Given the description of an element on the screen output the (x, y) to click on. 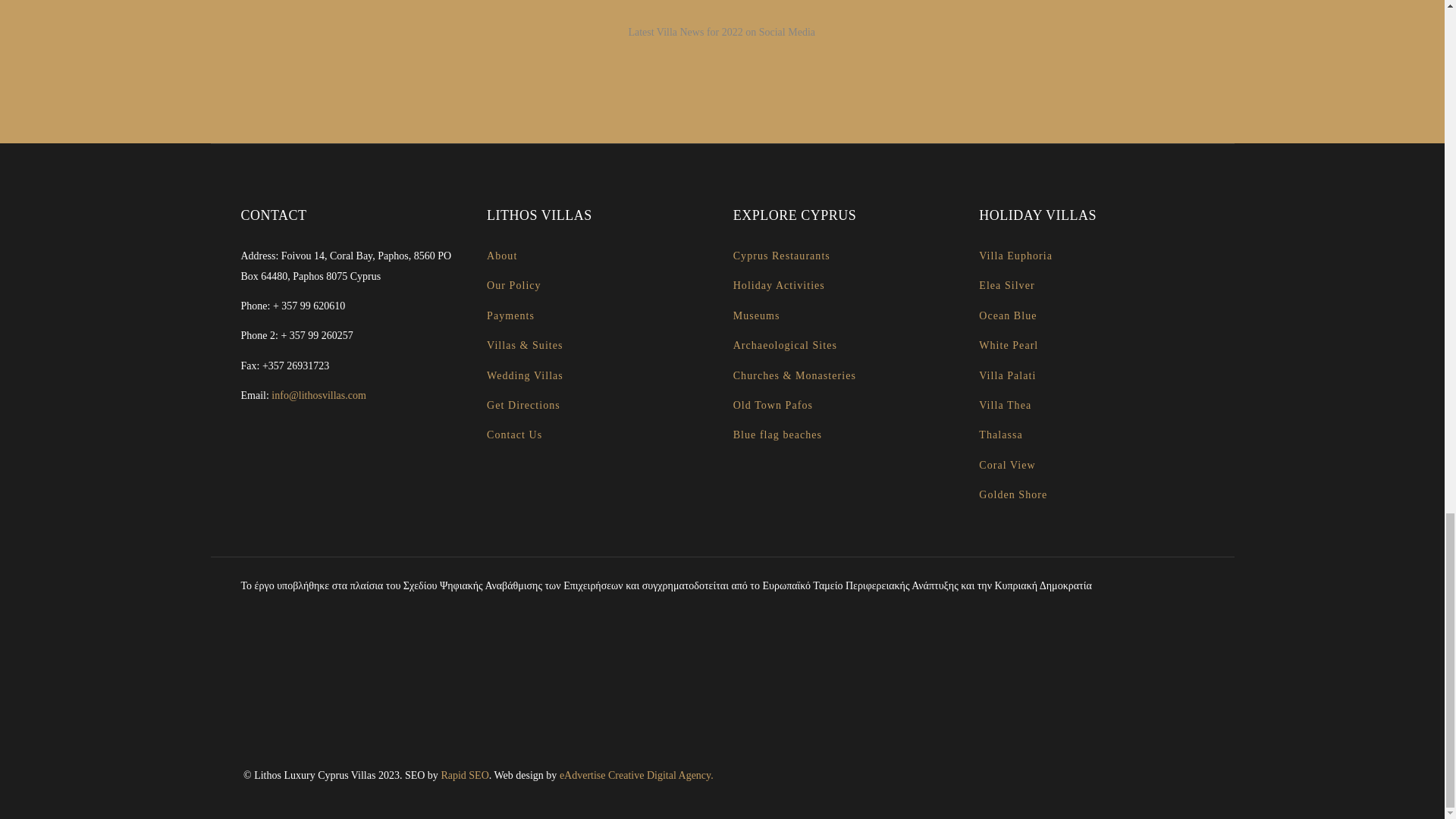
Archaeological Sites (785, 345)
Our Policy (513, 285)
Museums (756, 315)
Villa Elea Silver in Cyprus (1005, 285)
Villa Euphoria in Paphos (1015, 255)
Villa Euphoria (1015, 255)
Villa Ocean Blue in Cyprus (1007, 315)
Villa Thalassa (1000, 434)
Blue flag beaches (777, 434)
Villa Palati in Cyprus (1006, 375)
Old Town Pafos (772, 405)
Villa Golden Shore (1012, 494)
Holiday Activities (779, 285)
Payments (510, 315)
Villa Coral View (1006, 464)
